Given the description of an element on the screen output the (x, y) to click on. 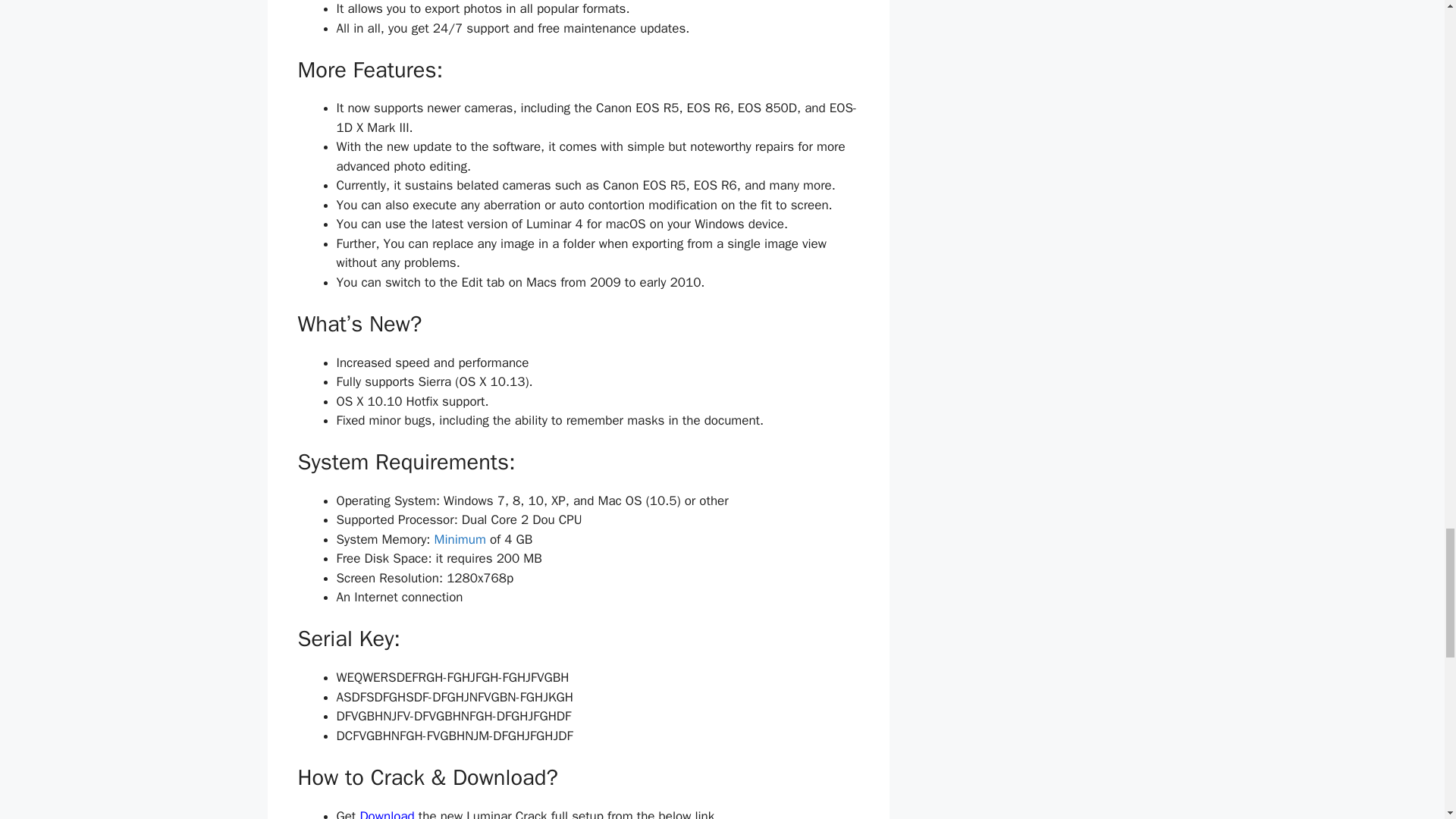
Download (388, 813)
Minimum (459, 539)
